Given the description of an element on the screen output the (x, y) to click on. 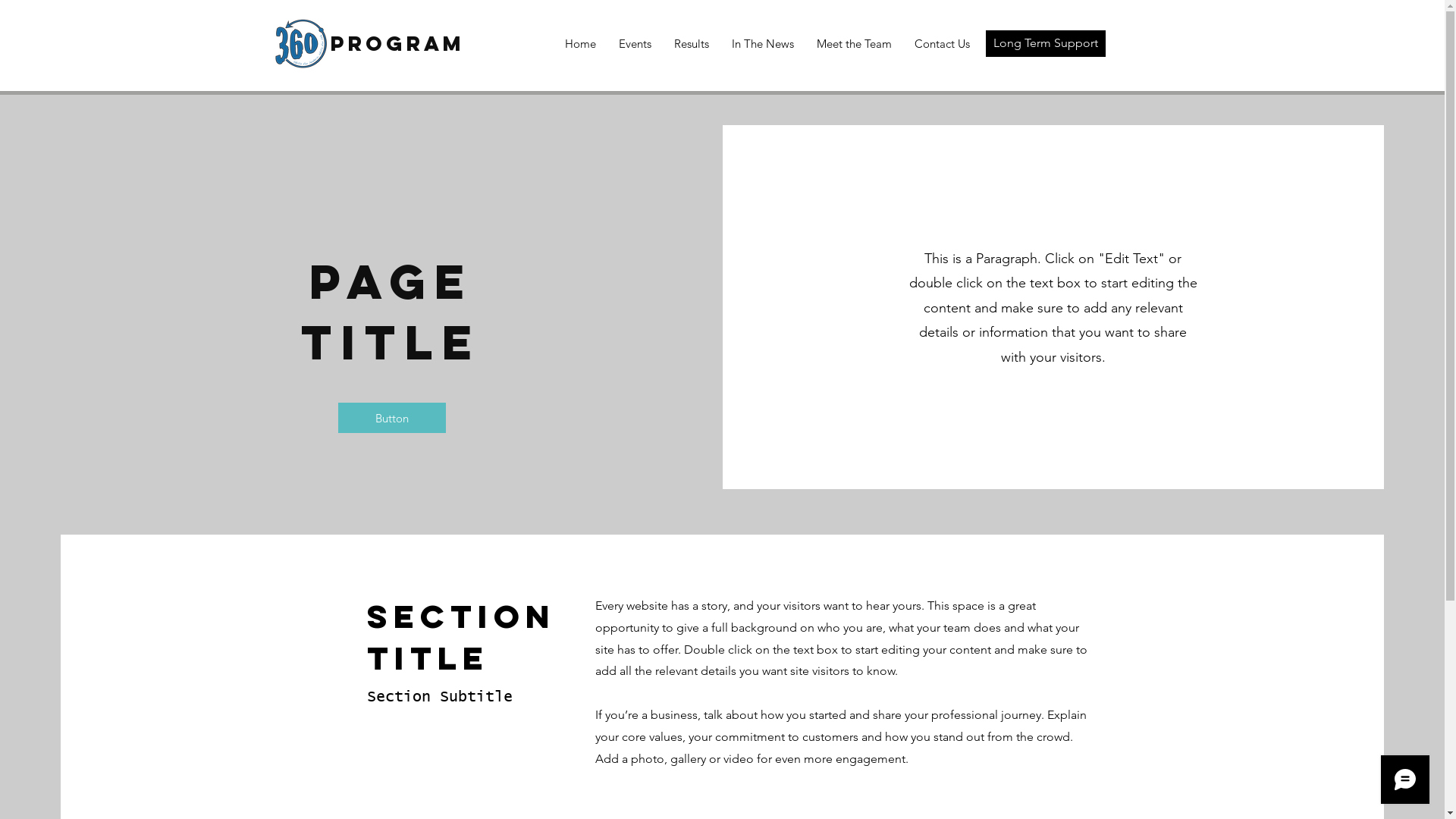
In The News Element type: text (762, 43)
Results Element type: text (691, 43)
Long Term Support Element type: text (1045, 43)
Home Element type: text (580, 43)
Events Element type: text (634, 43)
PROGRAM Element type: text (397, 43)
Contact Us Element type: text (941, 43)
Meet the Team Element type: text (854, 43)
